Given the description of an element on the screen output the (x, y) to click on. 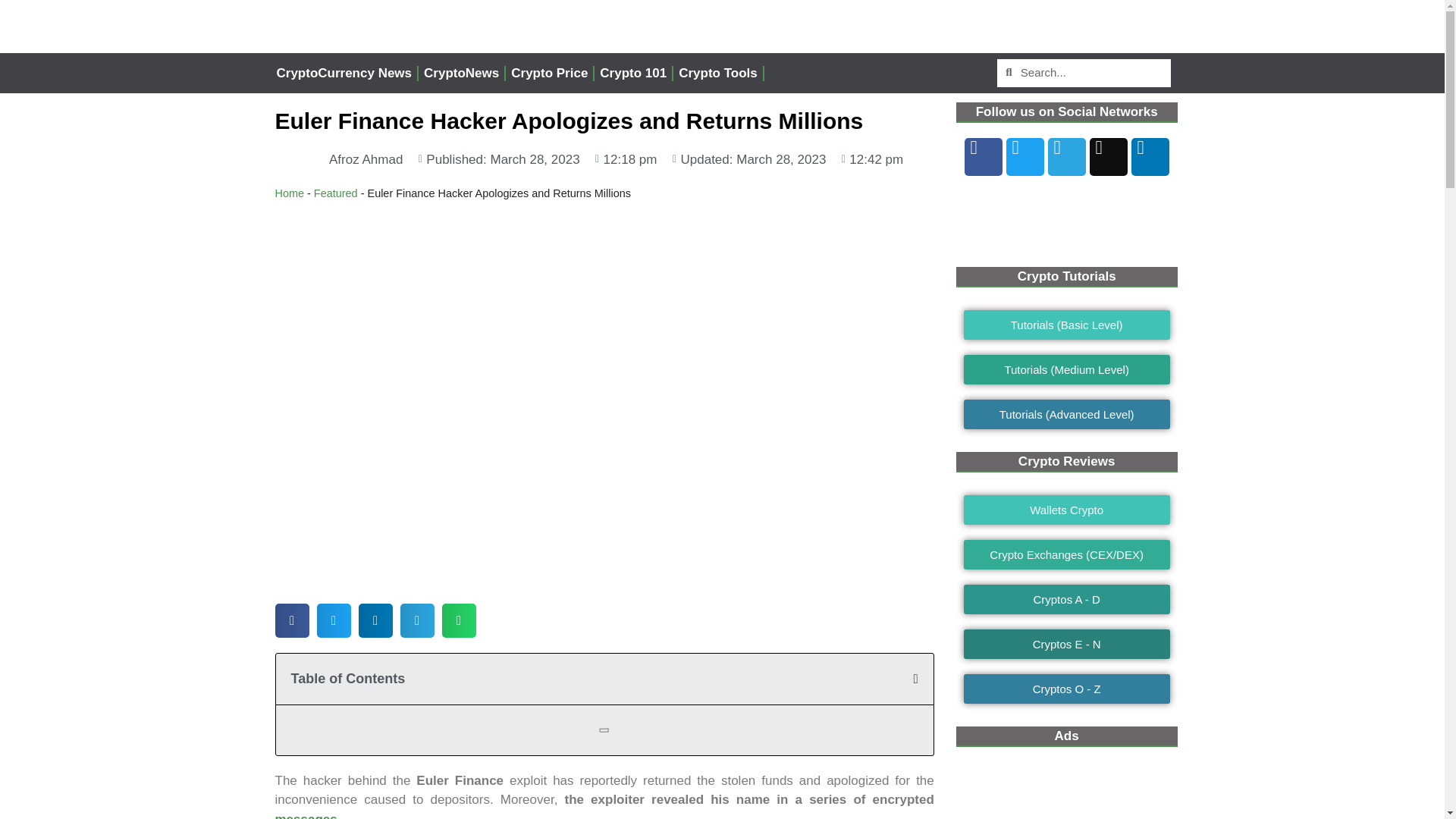
CryptoCurrency News (343, 72)
Crypto Price (548, 72)
Crypto 101 (632, 72)
CryptoNews (461, 72)
